Given the description of an element on the screen output the (x, y) to click on. 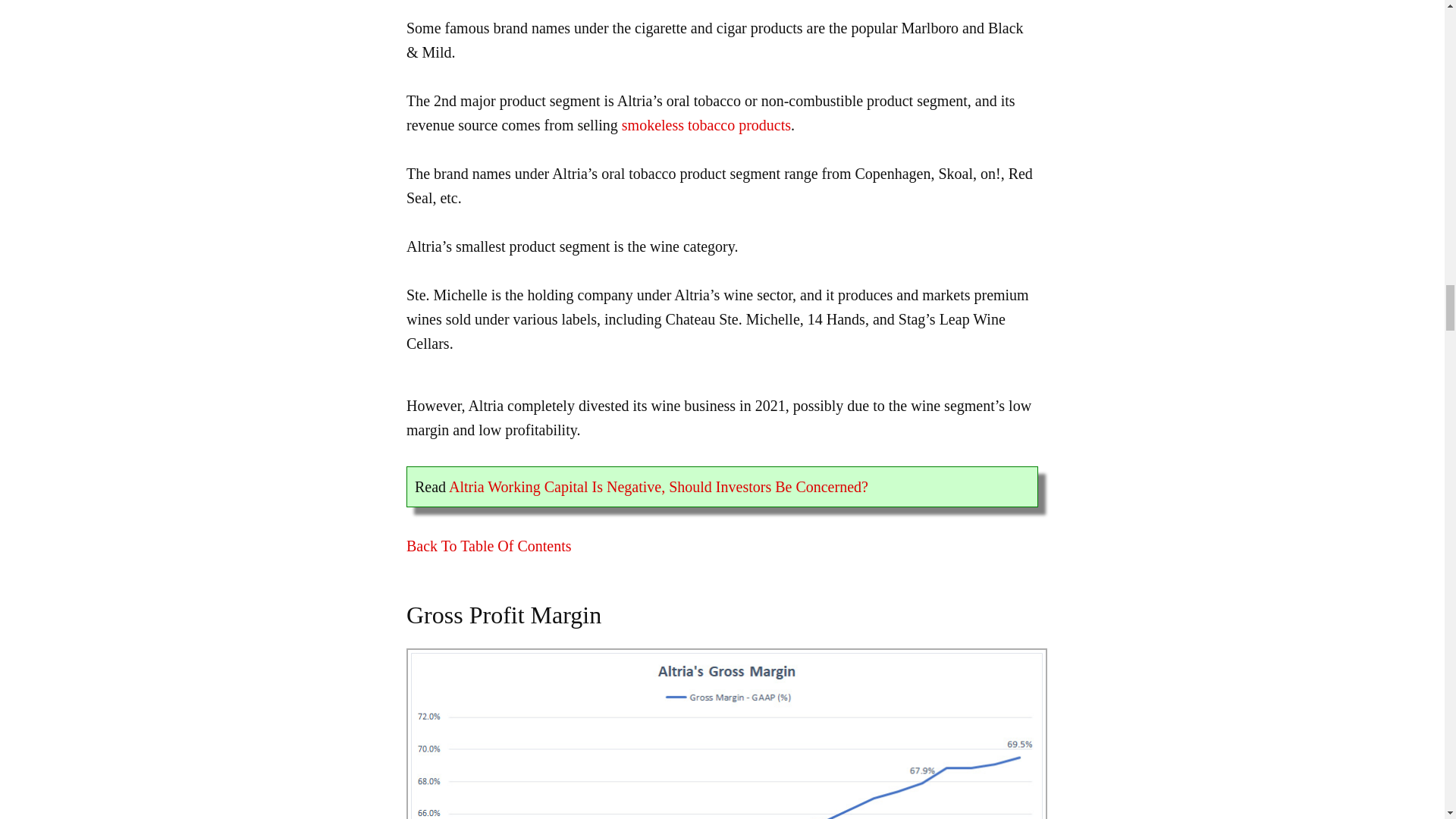
Altria gross margin (726, 733)
Back To Table Of Contents (489, 545)
smokeless tobacco products (705, 125)
